Given the description of an element on the screen output the (x, y) to click on. 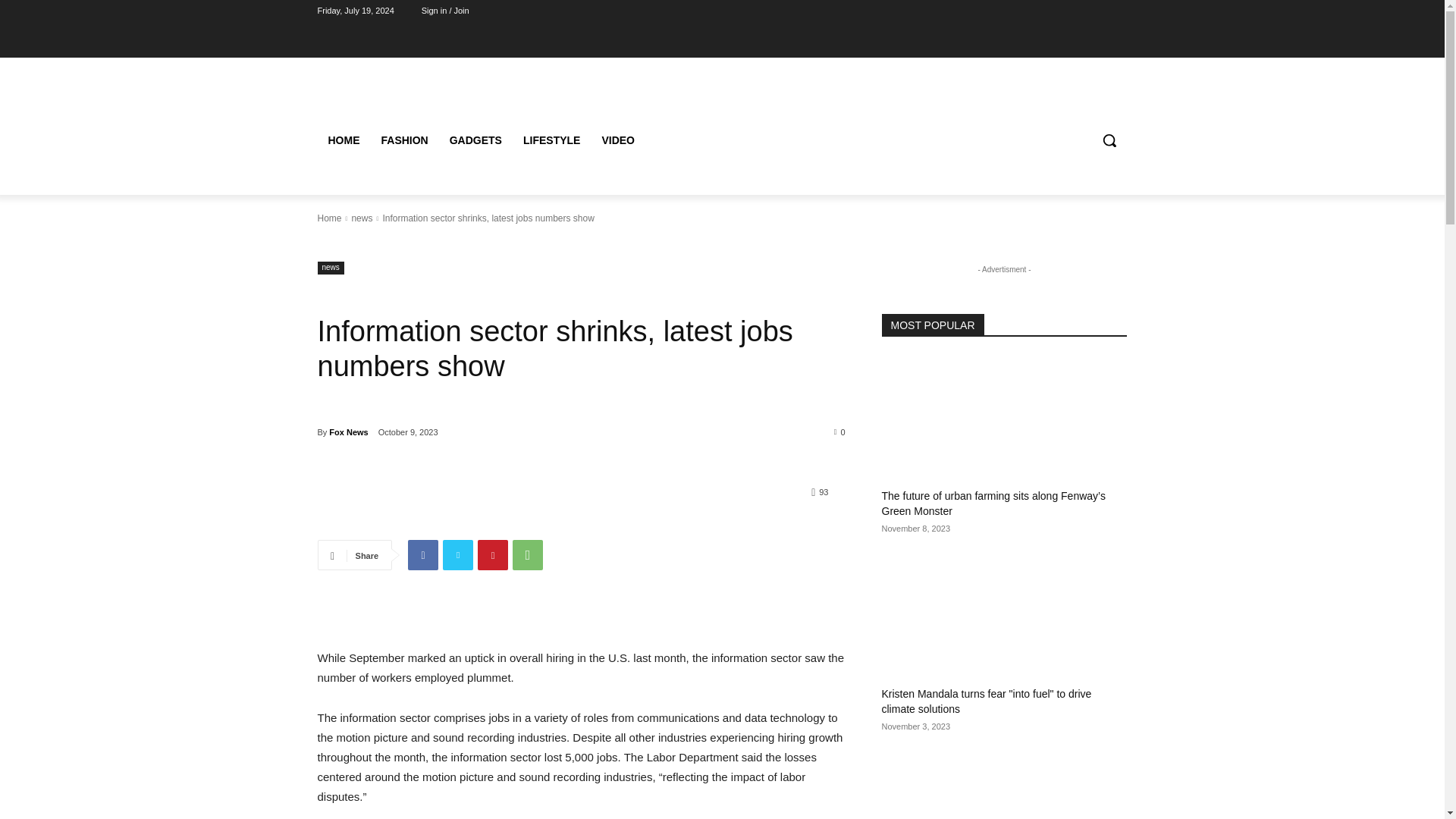
Pinterest (492, 554)
FASHION (403, 140)
View all posts in news (361, 217)
HOME (343, 140)
GADGETS (475, 140)
WhatsApp (527, 554)
Twitter (457, 554)
news (330, 267)
Home (328, 217)
0 (839, 430)
Fox News (348, 431)
VIDEO (618, 140)
LIFESTYLE (551, 140)
Facebook (422, 554)
news (361, 217)
